Given the description of an element on the screen output the (x, y) to click on. 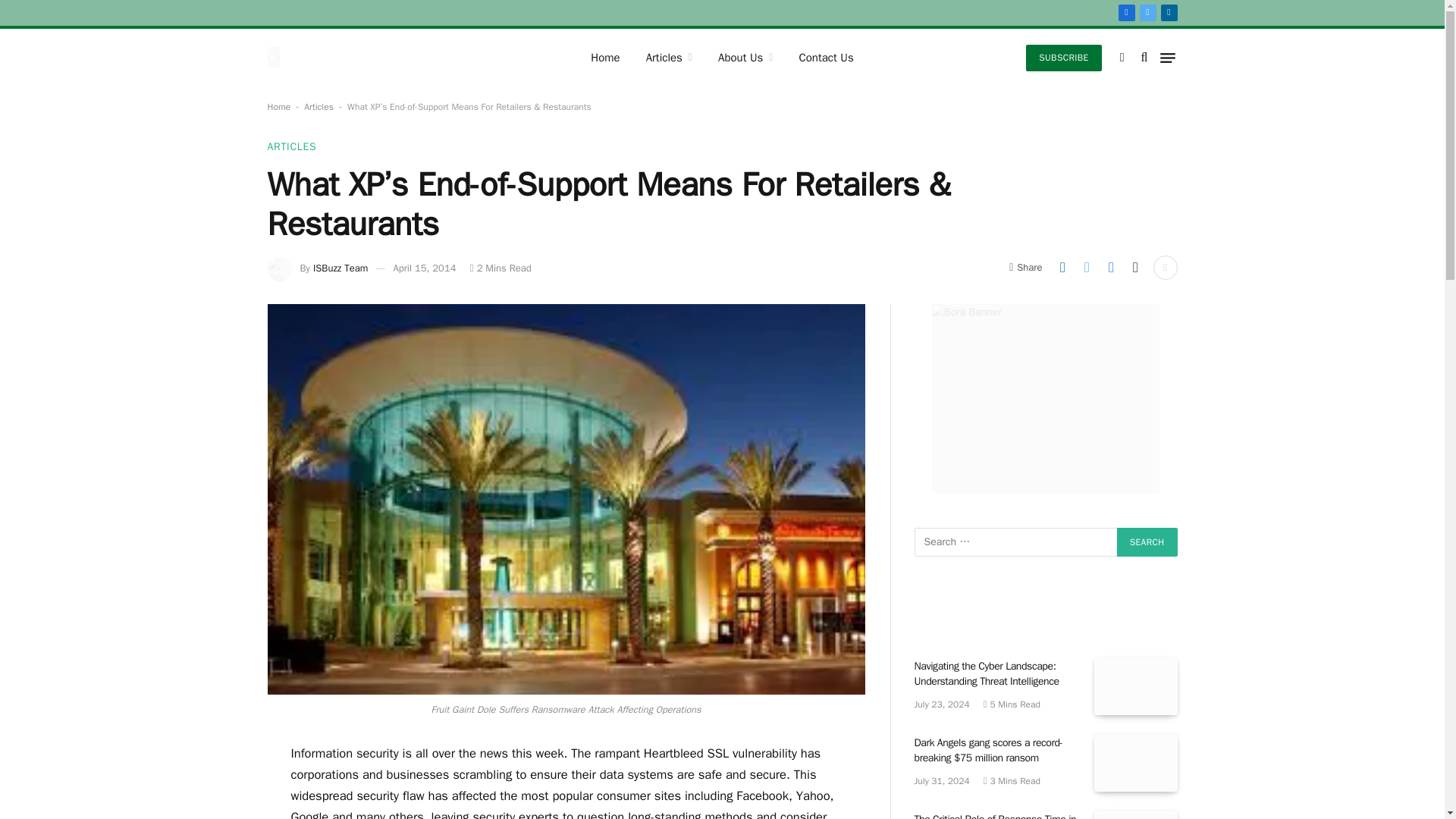
Share on Facebook (1110, 267)
Share on LinkedIn (1062, 267)
Information Security Buzz (314, 57)
Copy Link (1135, 267)
Search (1146, 541)
Search (1146, 541)
Posts by ISBuzz Team (340, 267)
Show More Social Sharing (1164, 267)
Switch to Dark Design - easier on eyes. (1122, 57)
